Given the description of an element on the screen output the (x, y) to click on. 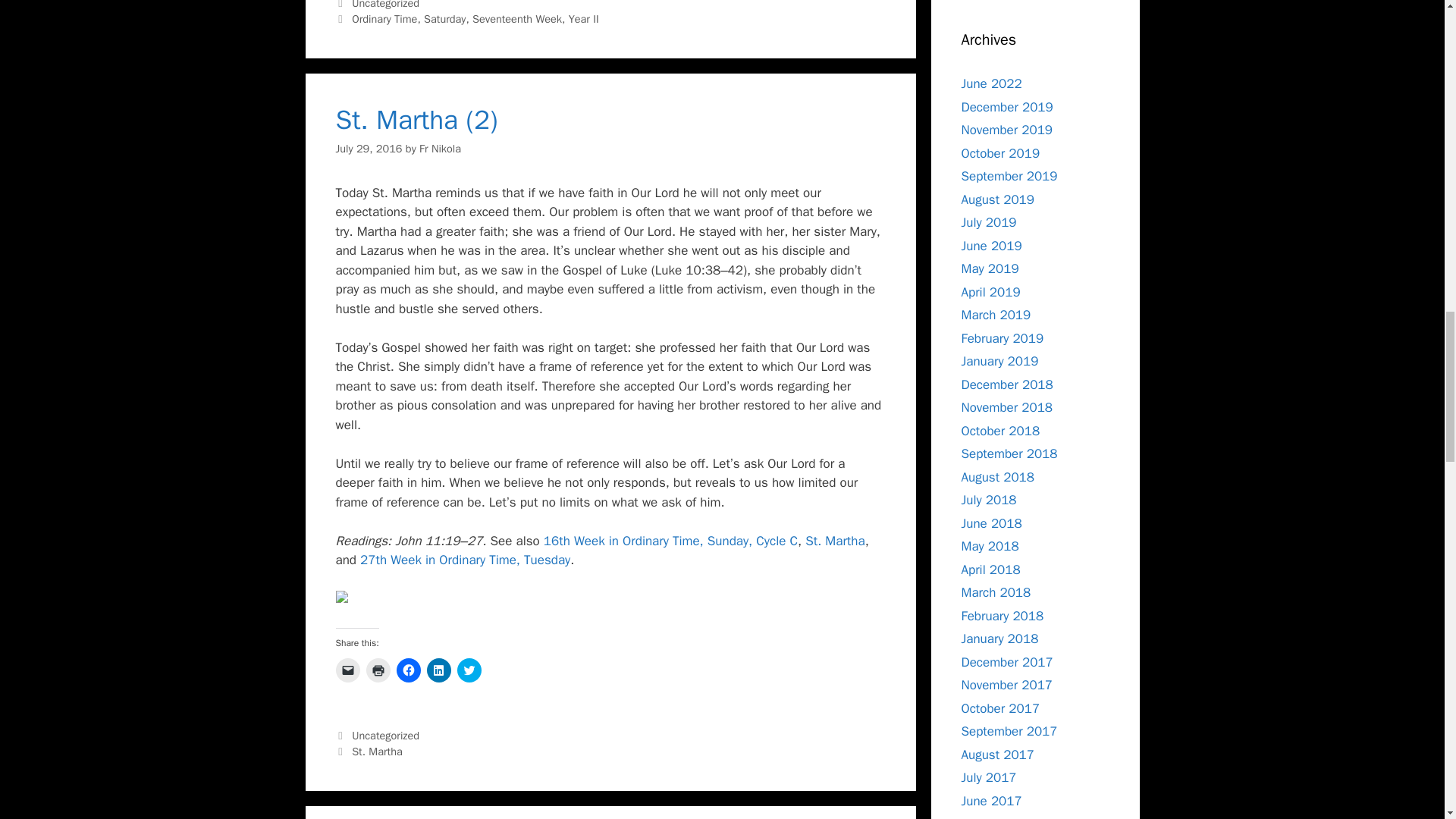
View all posts by Fr Nikola (440, 148)
Click to print (377, 670)
Click to email a link to a friend (346, 670)
Click to share on Facebook (408, 670)
